Given the description of an element on the screen output the (x, y) to click on. 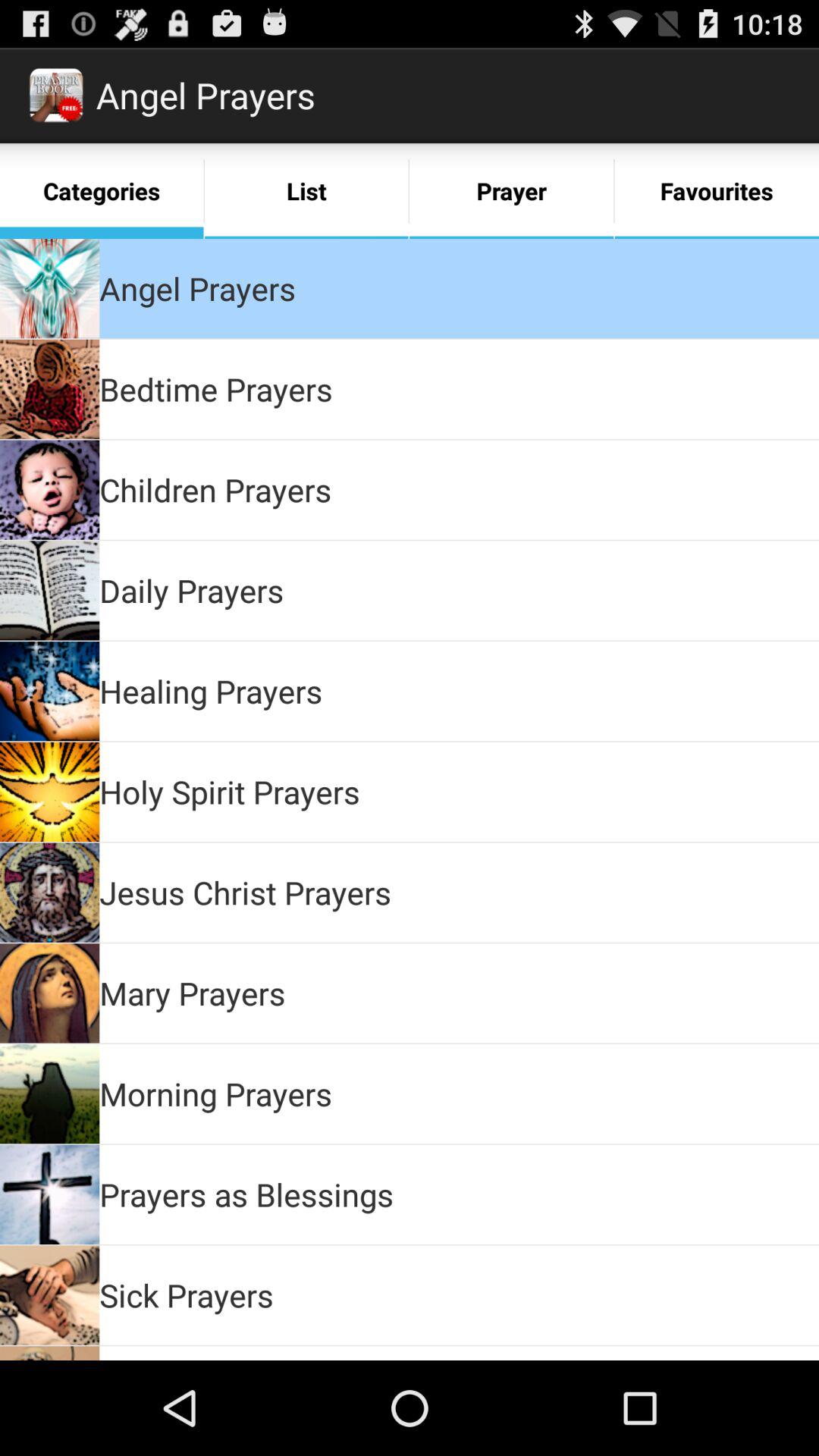
scroll to mary prayers item (192, 992)
